Given the description of an element on the screen output the (x, y) to click on. 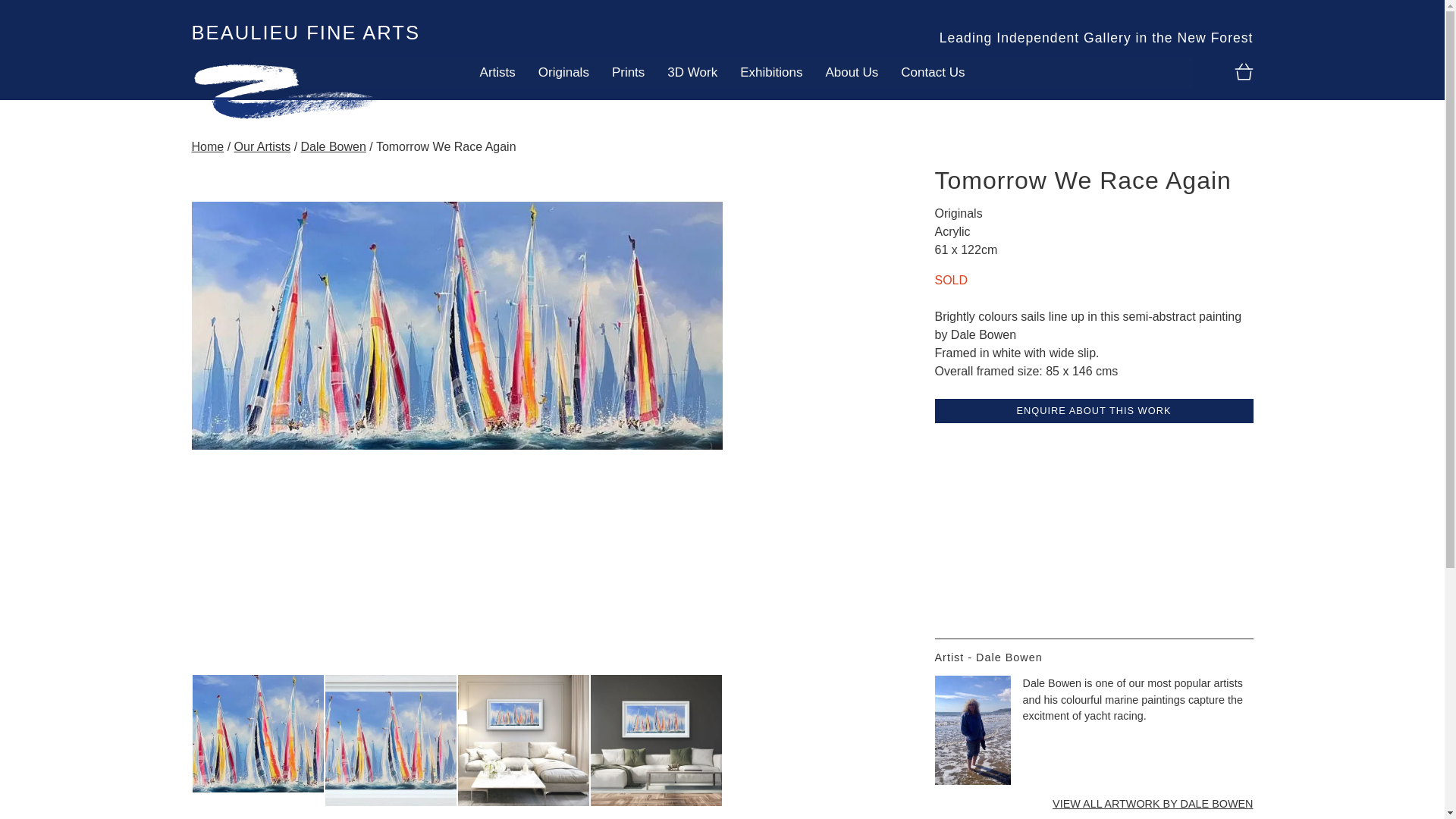
Exhibitions (771, 72)
Prints (627, 72)
About Us (851, 72)
Artists (497, 72)
3D Work (692, 72)
BEAULIEU FINE ARTS (305, 32)
Contact Us (932, 72)
Originals (563, 72)
